Given the description of an element on the screen output the (x, y) to click on. 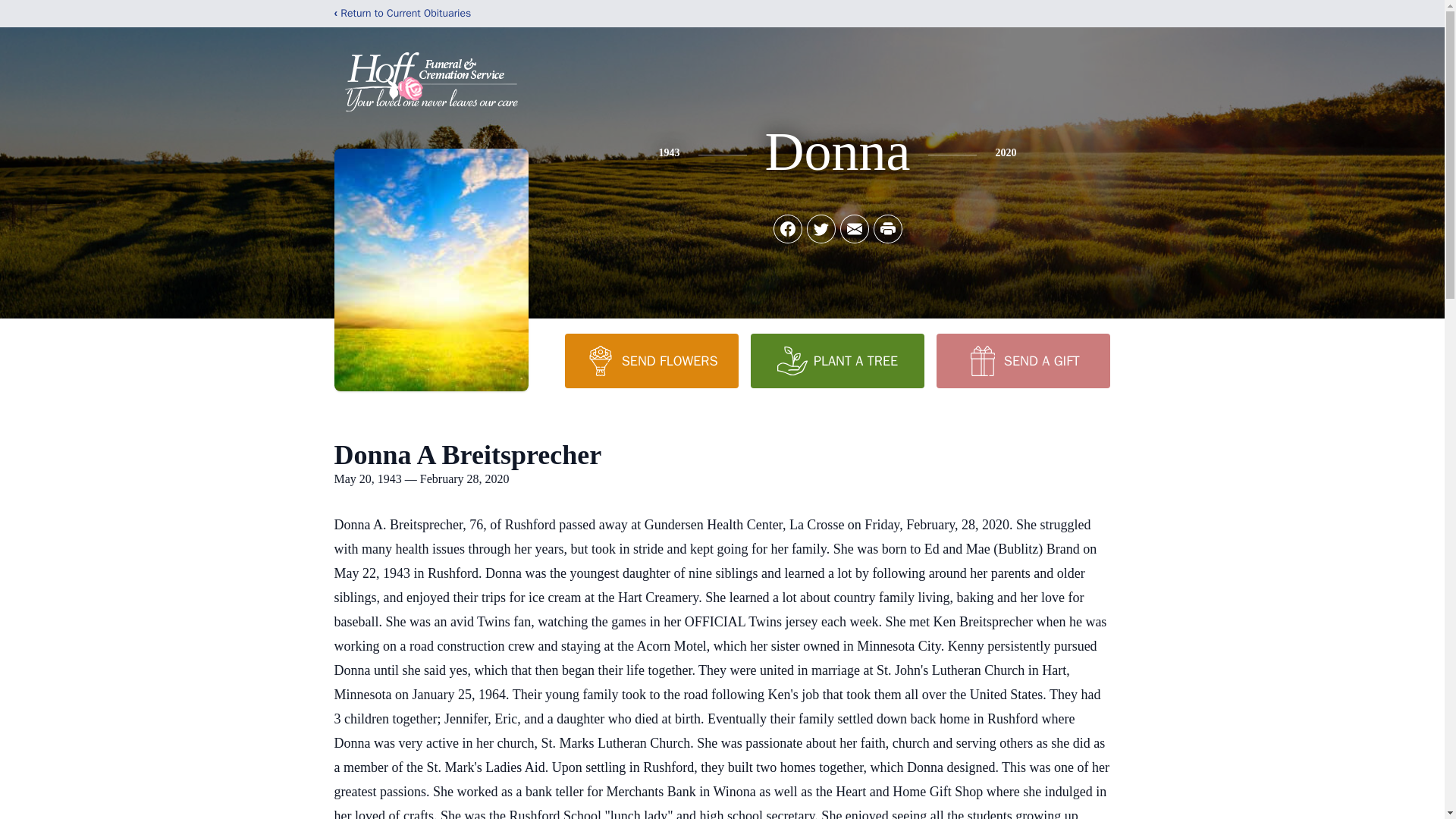
SEND FLOWERS (651, 360)
SEND A GIFT (1022, 360)
PLANT A TREE (837, 360)
